Given the description of an element on the screen output the (x, y) to click on. 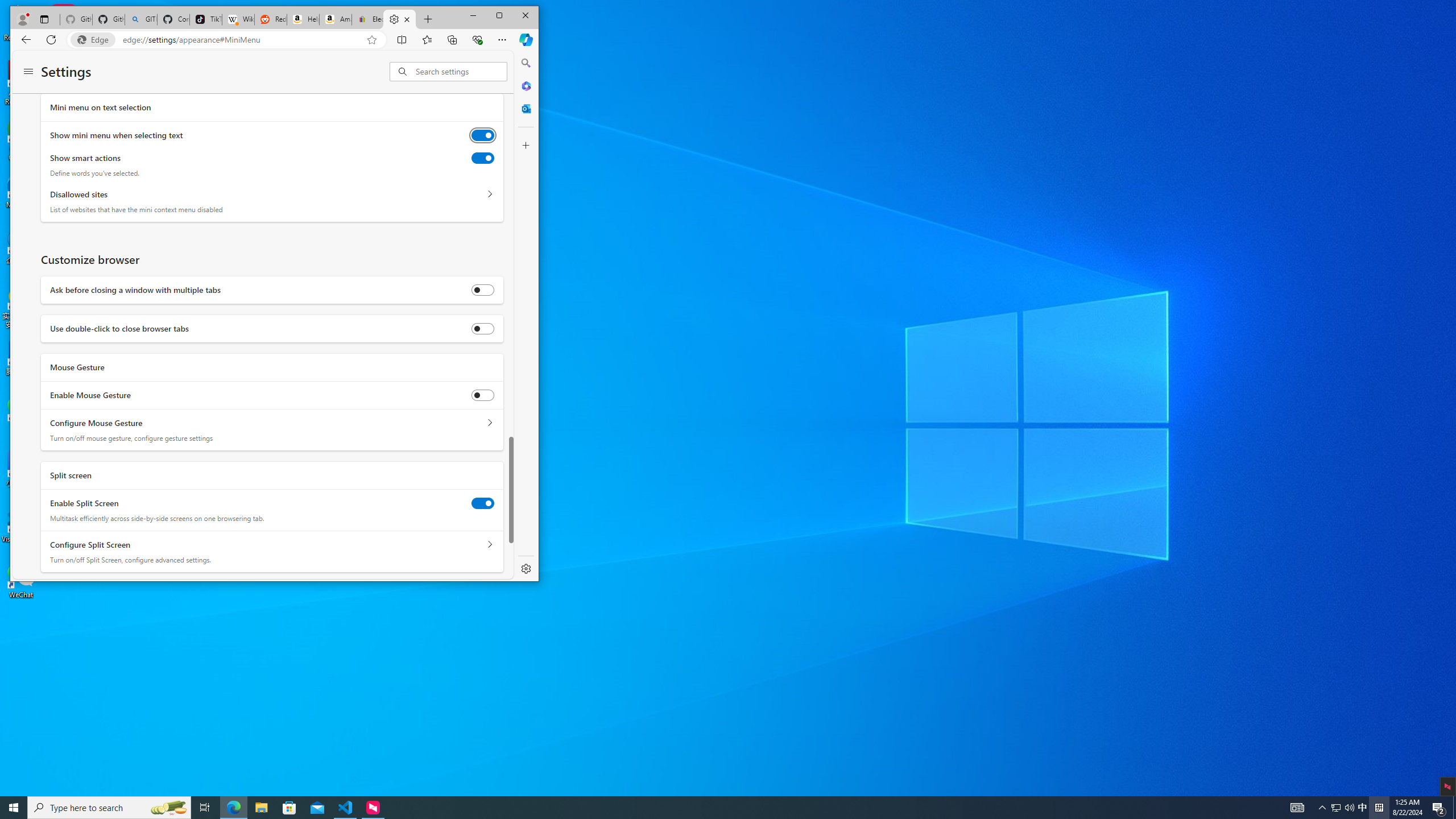
Configure Split Screen (489, 544)
Q2790: 100% (1349, 807)
Type here to search (108, 807)
Visual Studio Code - 1 running window (345, 807)
Use double-click to close browser tabs (482, 328)
Wikipedia, the free encyclopedia (237, 19)
Amazon.com: Deals (335, 19)
User Promoted Notification Area (1342, 807)
Start (13, 807)
Ask before closing a window with multiple tabs (482, 289)
Maximize (499, 15)
